Given the description of an element on the screen output the (x, y) to click on. 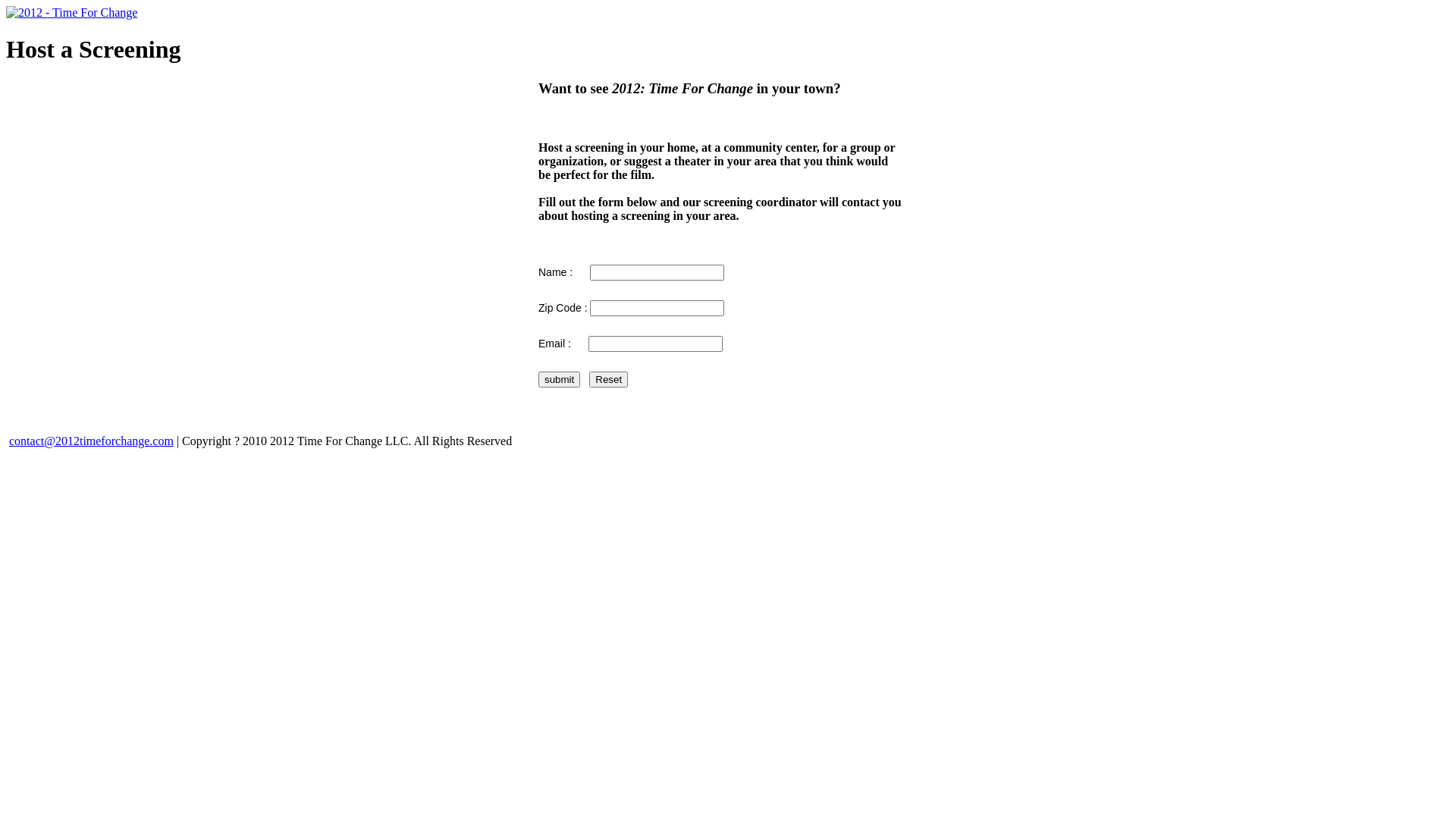
submit Element type: text (559, 379)
contact@2012timeforchange.com Element type: text (91, 440)
2012 - Time For Change Element type: hover (71, 12)
